Given the description of an element on the screen output the (x, y) to click on. 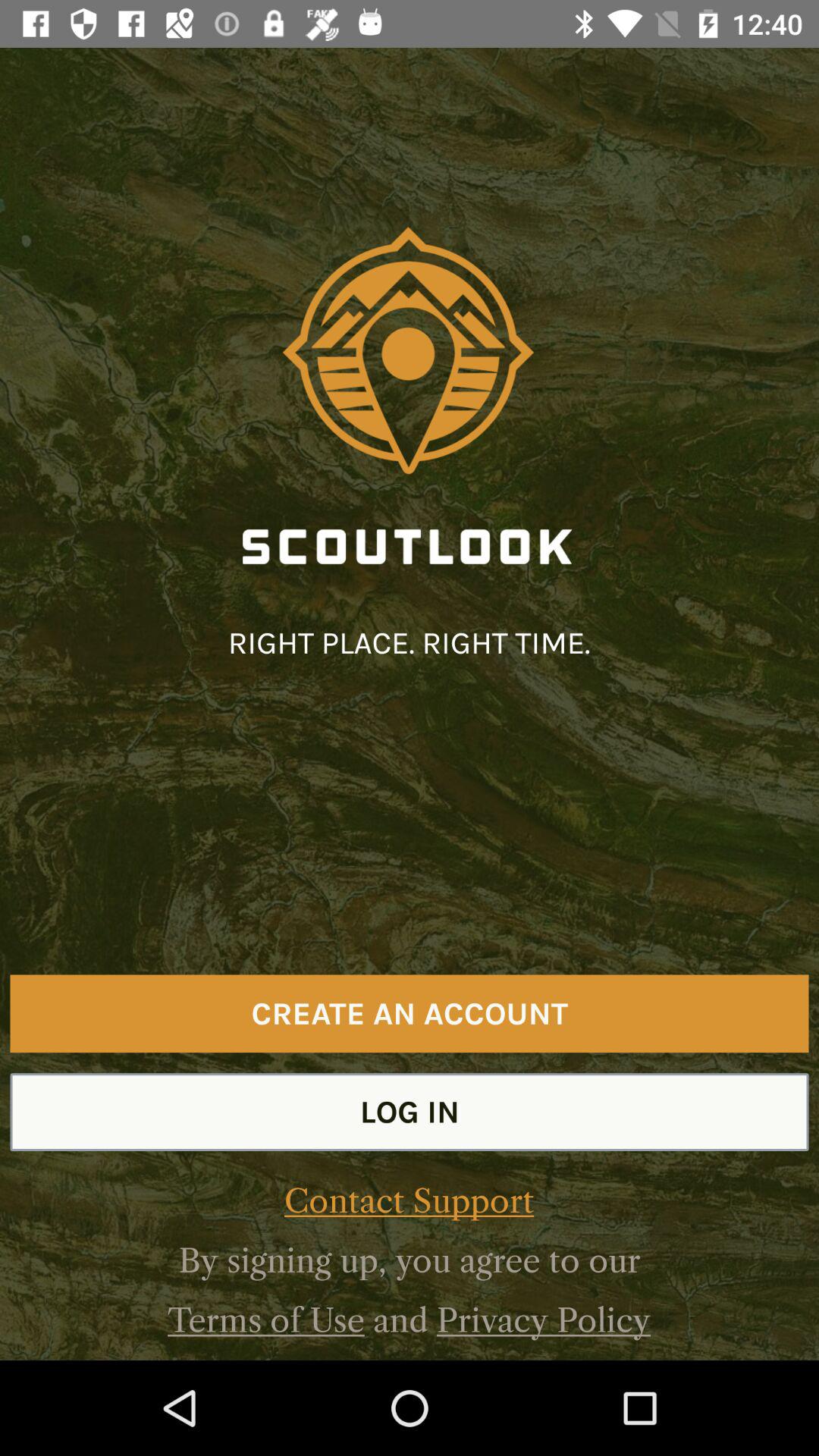
press the icon next to the  and  item (265, 1320)
